Given the description of an element on the screen output the (x, y) to click on. 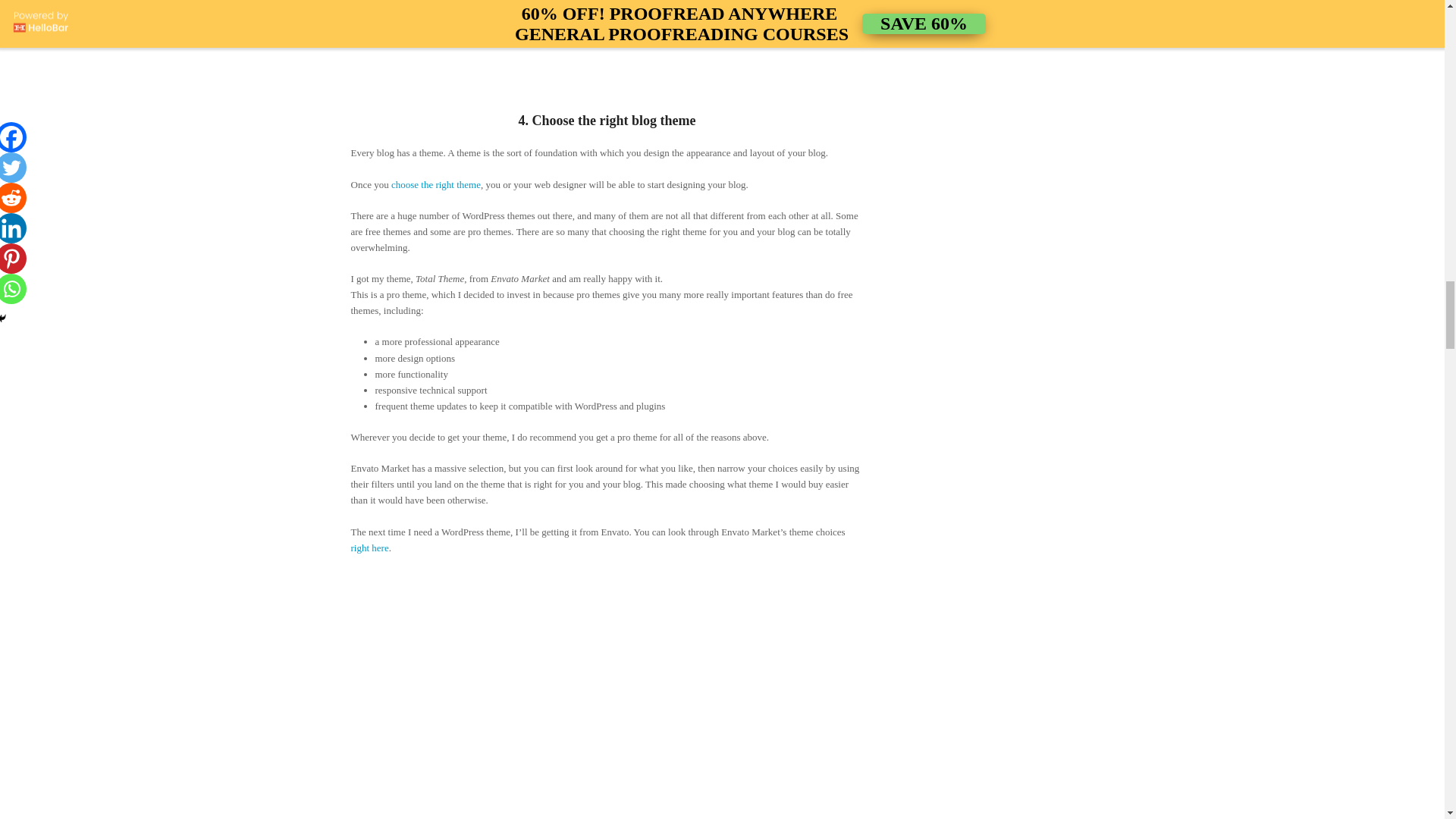
SiteGround blogging host (606, 44)
Envato WordPress themes (606, 684)
